Given the description of an element on the screen output the (x, y) to click on. 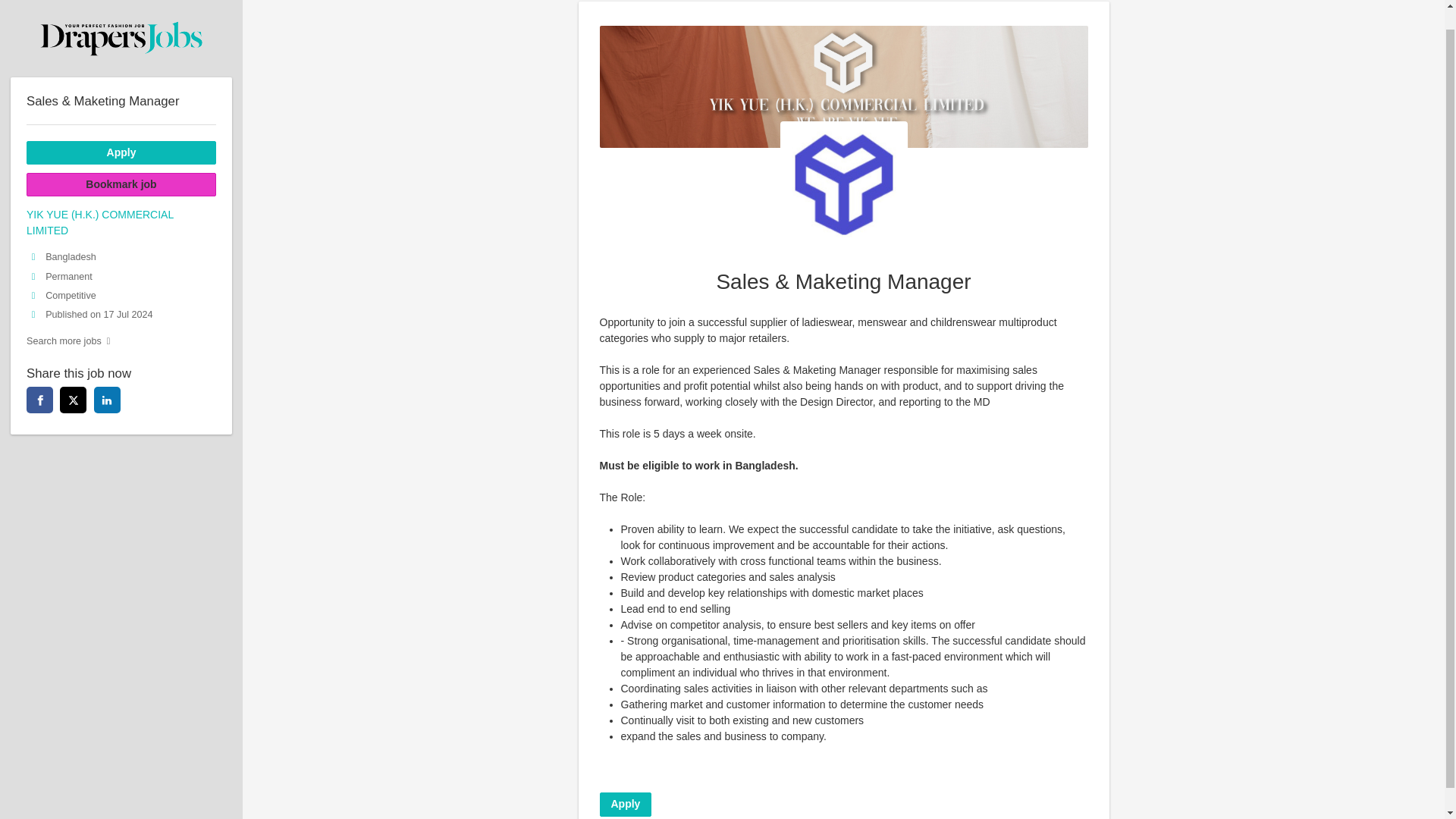
Bookmark job (120, 165)
Apply (624, 804)
Drapers Jobs (120, 20)
Apply (624, 804)
Search more jobs (120, 321)
Apply (120, 133)
Apply (120, 133)
Bookmark job (120, 165)
